Given the description of an element on the screen output the (x, y) to click on. 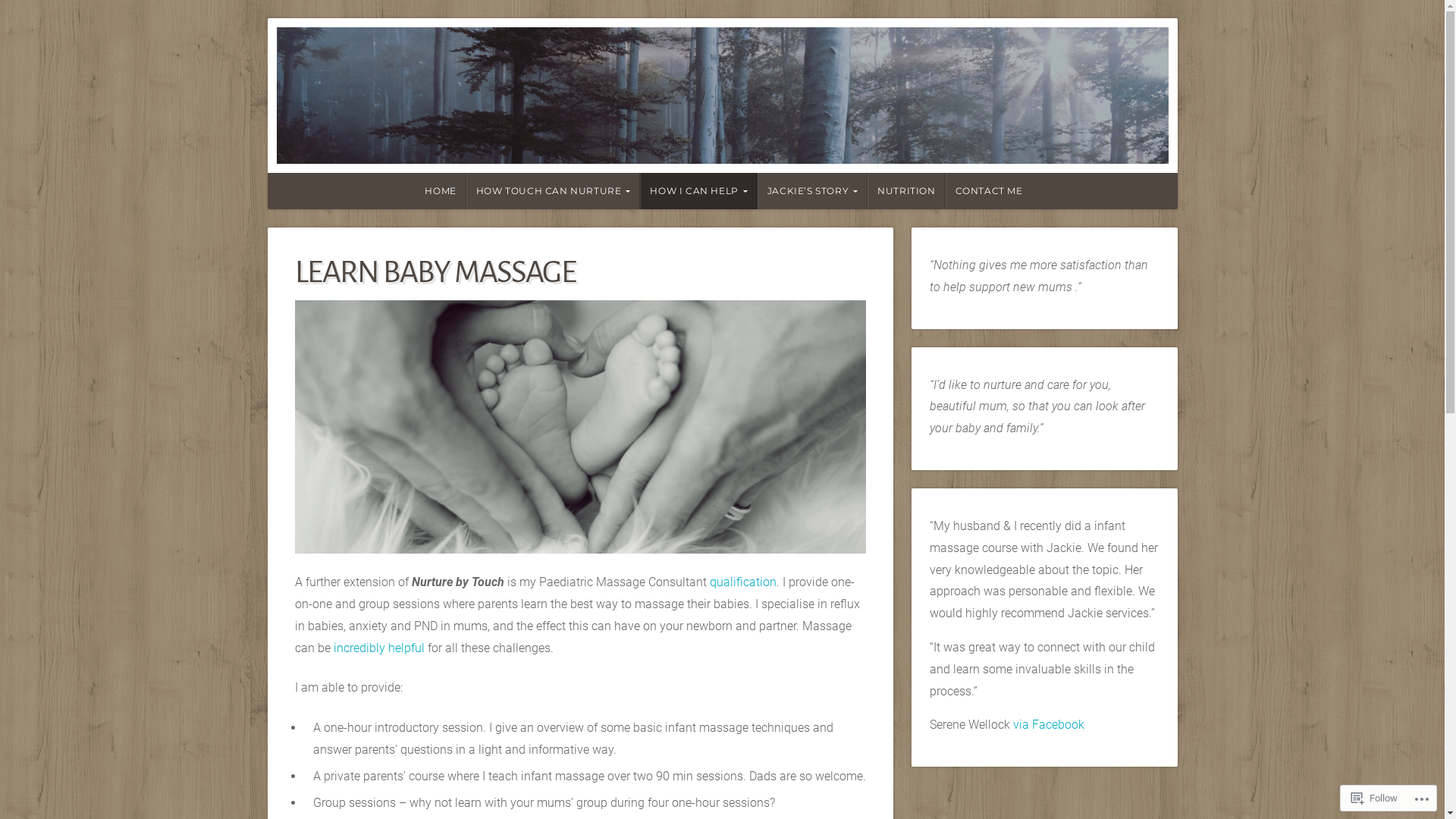
incredibly helpful Element type: text (378, 647)
Permalink to Learn baby massage Element type: hover (579, 427)
qualification Element type: text (742, 581)
CONTACT ME Element type: text (988, 190)
HOME Element type: text (438, 190)
Follow Element type: text (1374, 797)
HOW TOUCH CAN NURTURE Element type: text (553, 190)
NUTRITION Element type: text (905, 190)
via Facebook Element type: text (1048, 724)
HOW I CAN HELP Element type: text (698, 190)
